Given the description of an element on the screen output the (x, y) to click on. 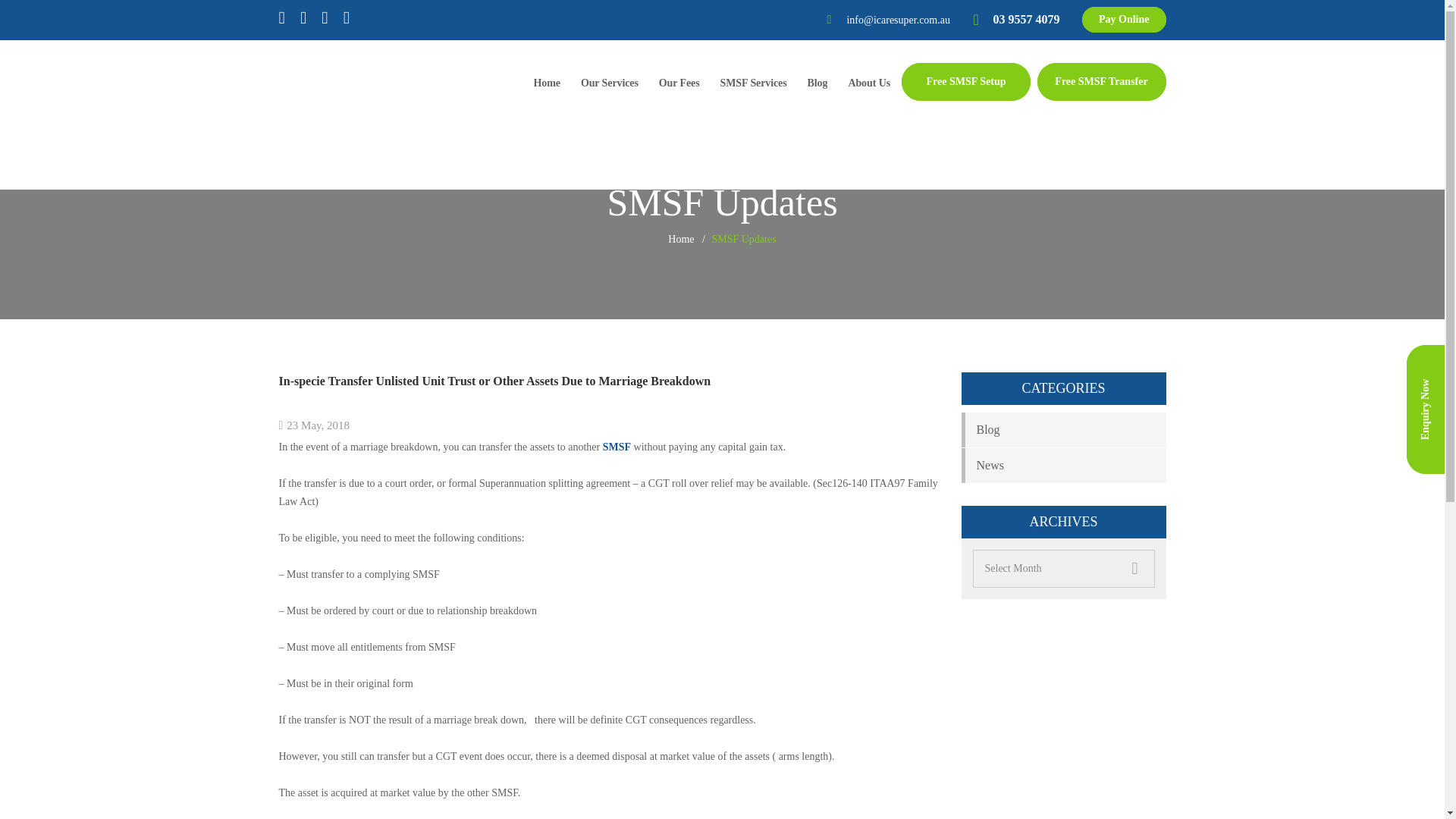
03 9557 4079 (1025, 19)
Our Fees (679, 85)
03 9557 4079 (1025, 19)
Our Services (609, 85)
Free SMSF Transfer (1101, 81)
SMSF Setup, SMSF Audit - iCare SMSF (377, 113)
Pay Online (1123, 19)
Pay Online (1123, 19)
Home (681, 238)
SMSF Setup (965, 81)
